Given the description of an element on the screen output the (x, y) to click on. 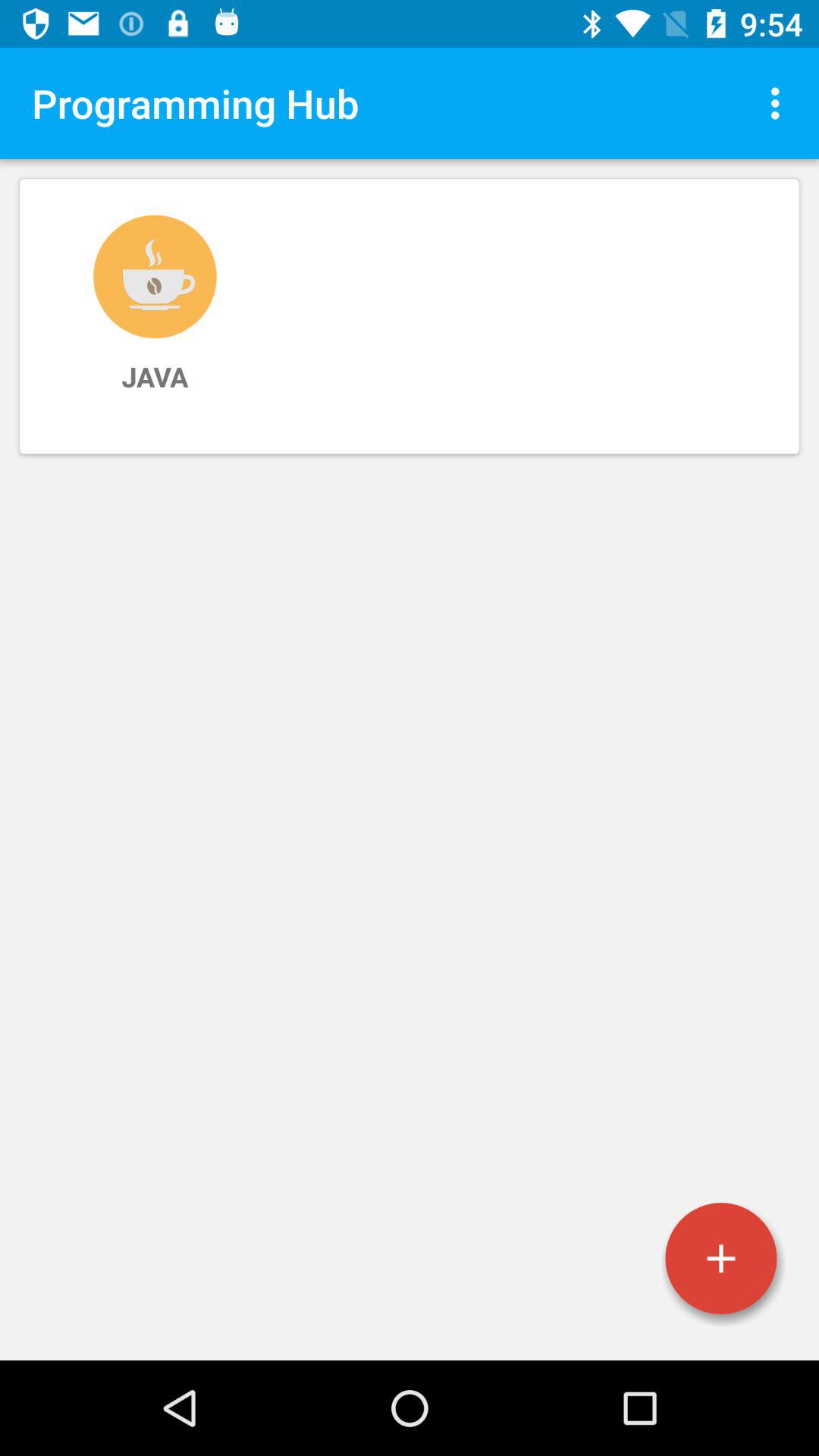
turn off the item to the right of the programming hub item (779, 103)
